Given the description of an element on the screen output the (x, y) to click on. 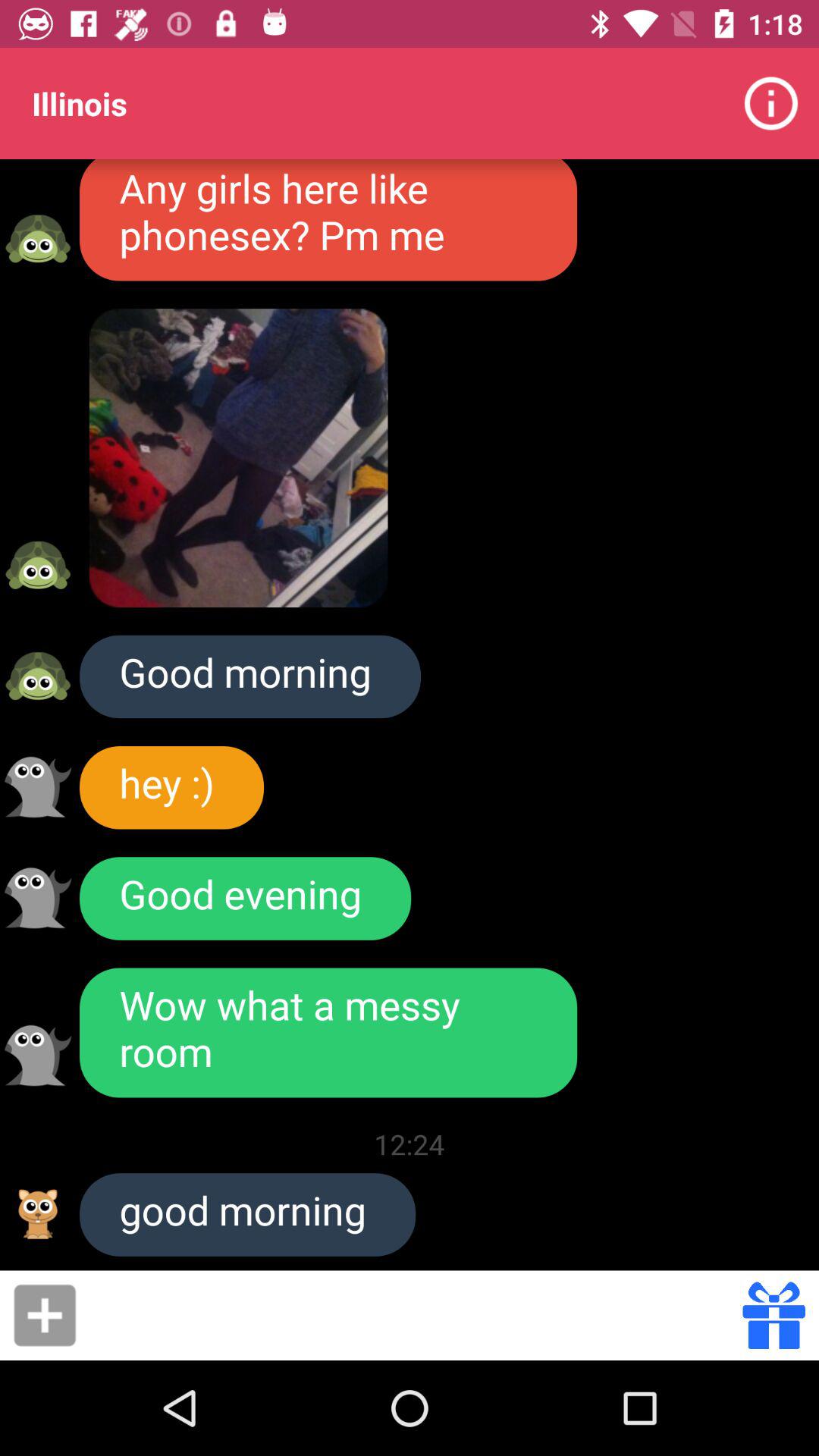
launch item below the good morning  icon (414, 1315)
